Given the description of an element on the screen output the (x, y) to click on. 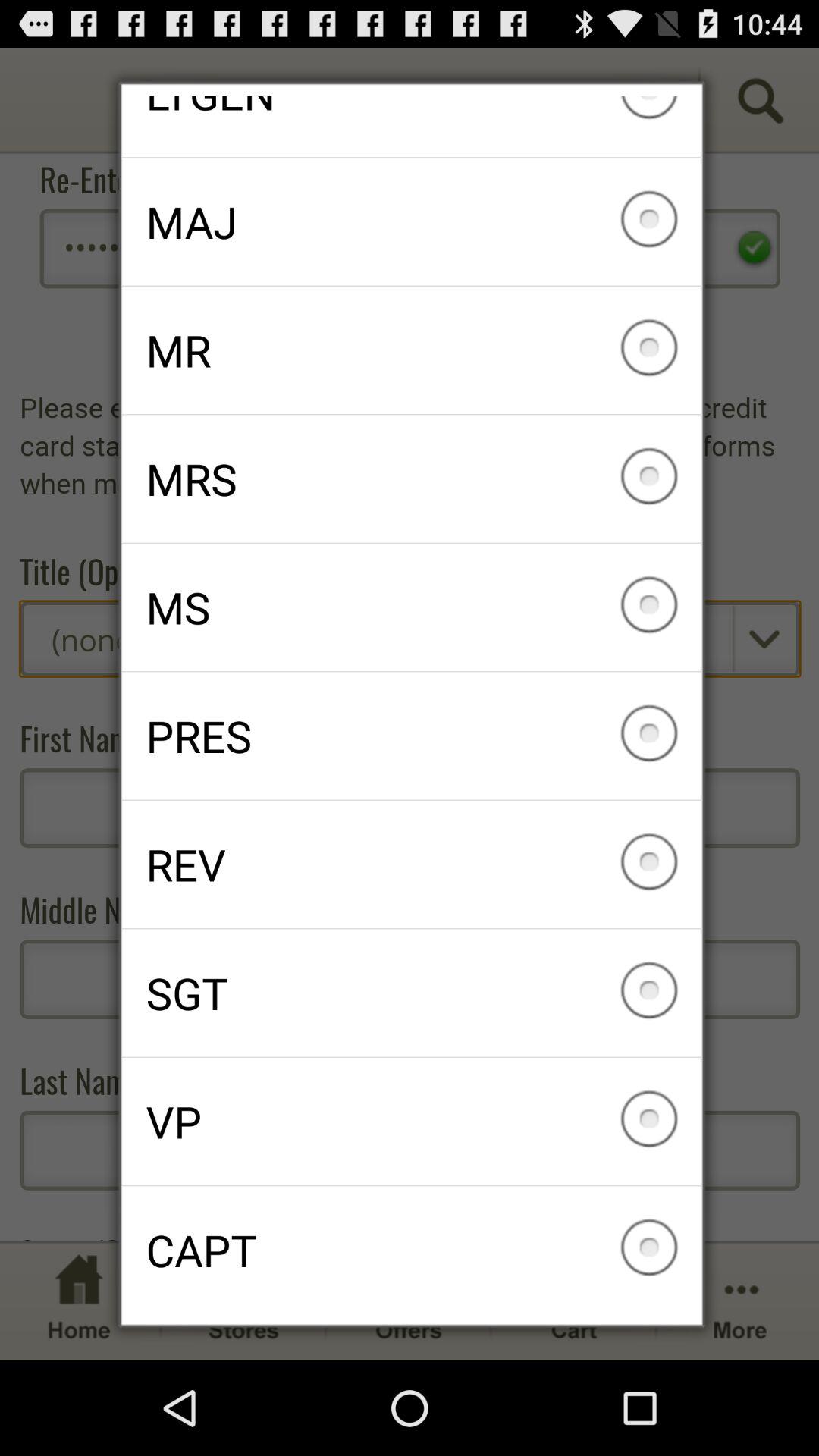
choose the icon above the sgt checkbox (411, 864)
